Given the description of an element on the screen output the (x, y) to click on. 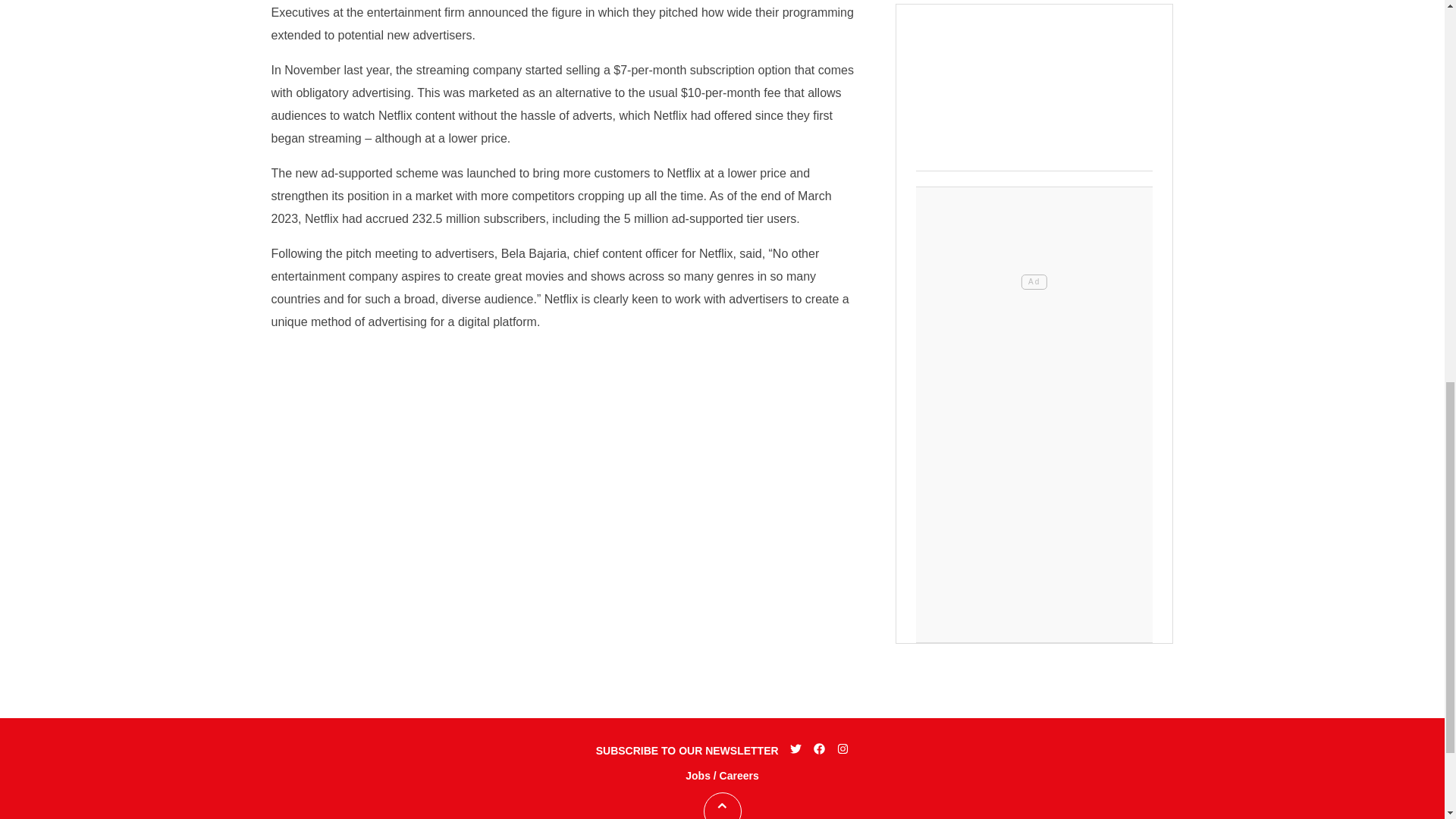
SUBSCRIBE TO OUR NEWSLETTER (687, 750)
